Given the description of an element on the screen output the (x, y) to click on. 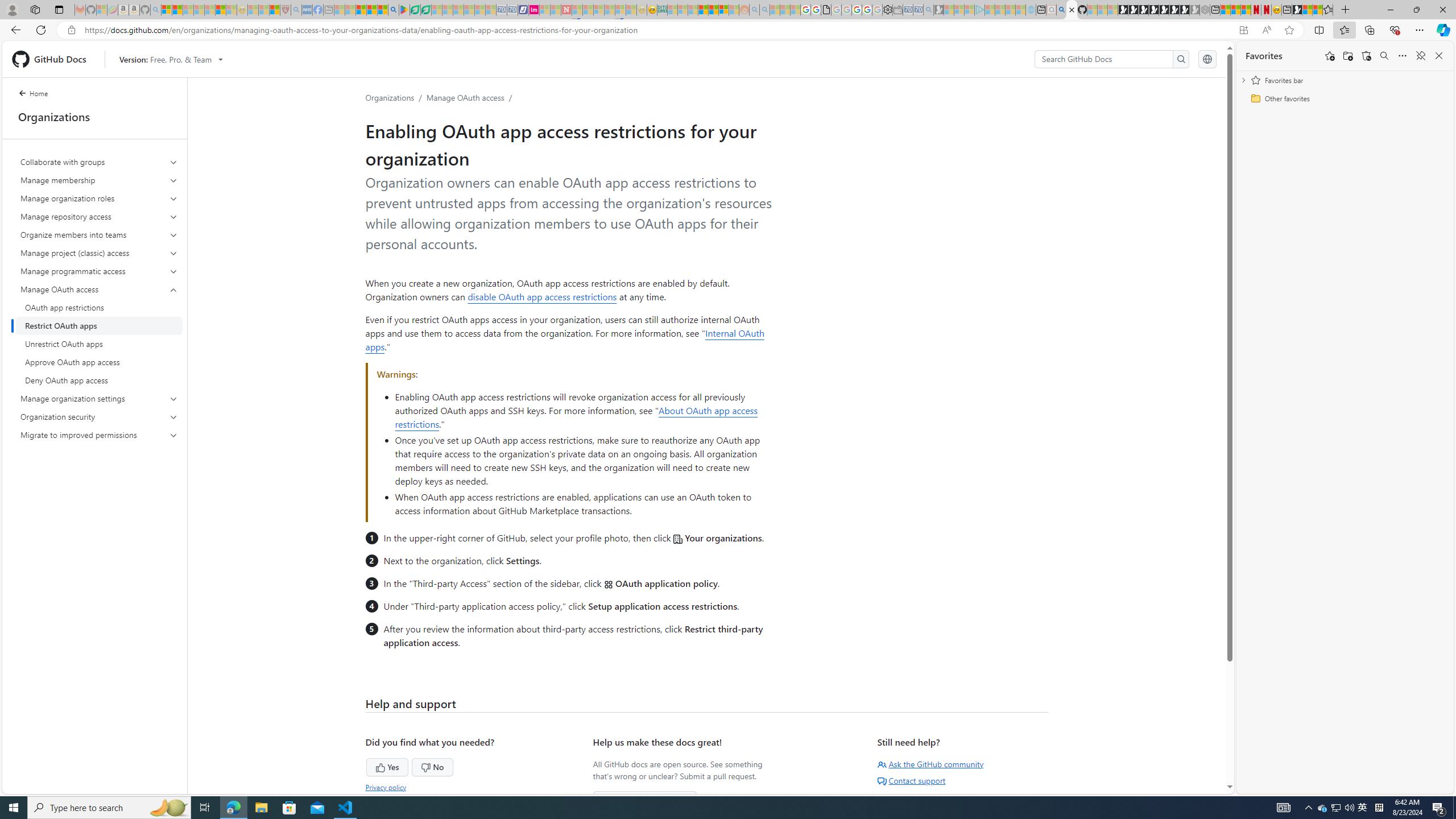
Internal OAuth apps (564, 339)
Organizations/ (395, 97)
Play Free Online Games | Games from Microsoft Start (1122, 9)
Manage organization roles (99, 198)
Manage organization settings (99, 398)
Add this page to favorites (1330, 55)
Organizations (389, 97)
